Given the description of an element on the screen output the (x, y) to click on. 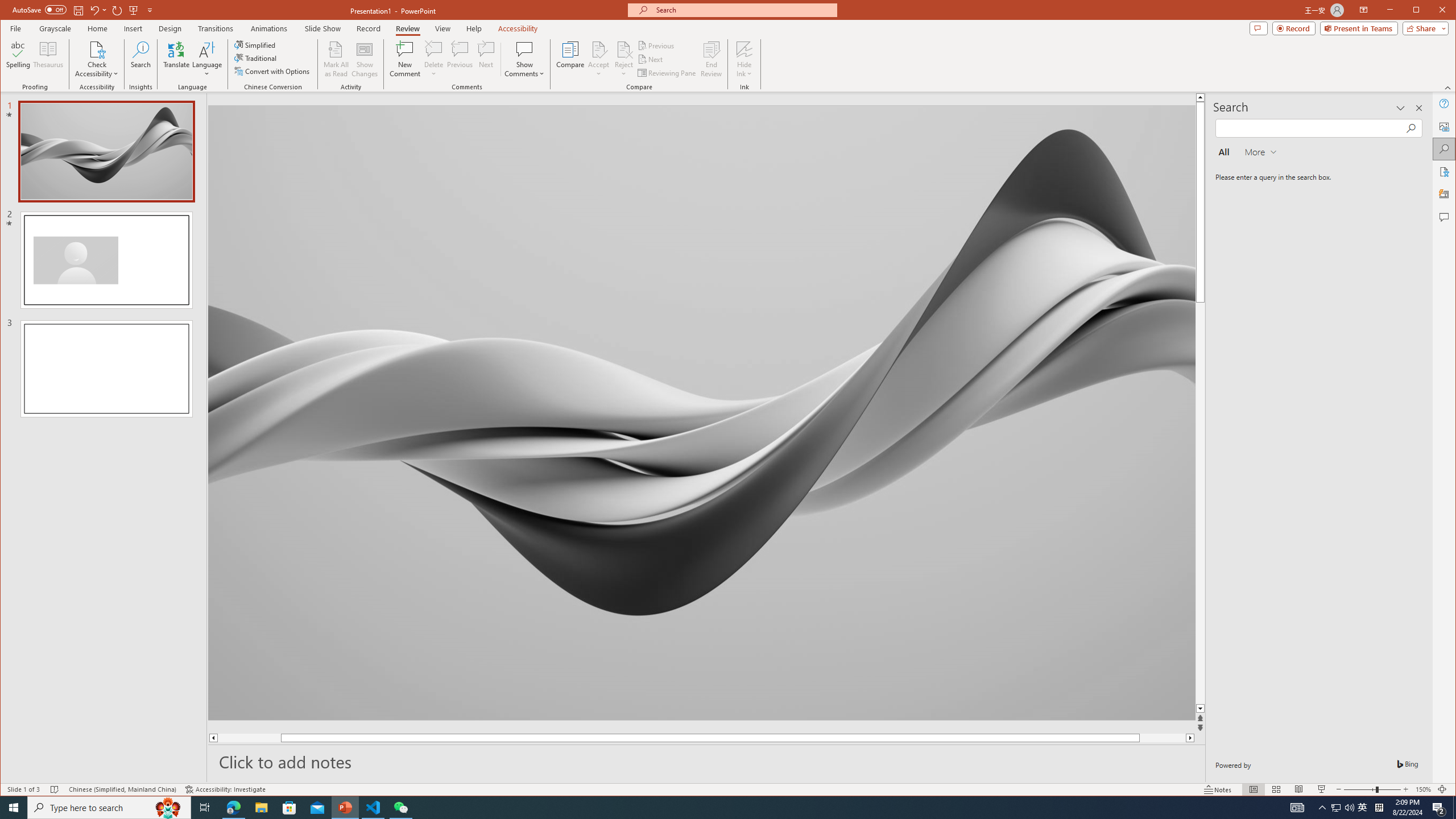
Simplified (255, 44)
Traditional (256, 57)
Convert with Options... (272, 70)
Zoom 150% (1422, 789)
